Given the description of an element on the screen output the (x, y) to click on. 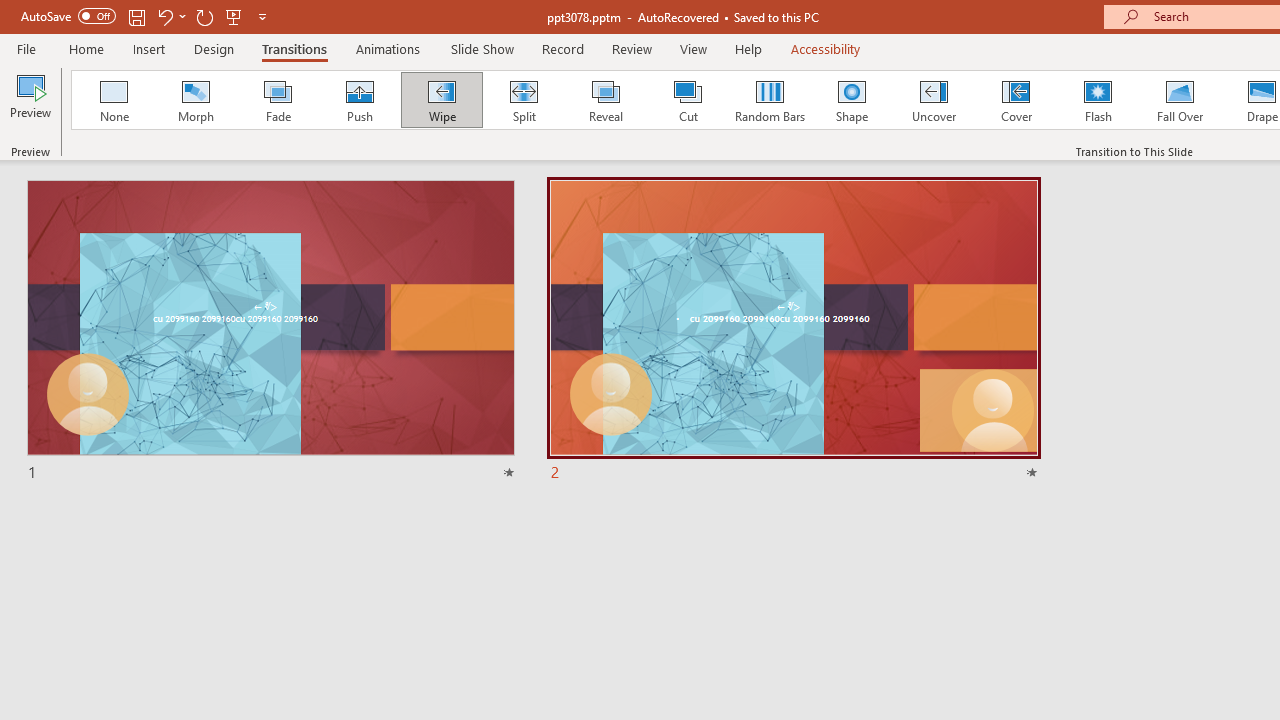
Push (359, 100)
Uncover (934, 100)
Fall Over (1180, 100)
